Given the description of an element on the screen output the (x, y) to click on. 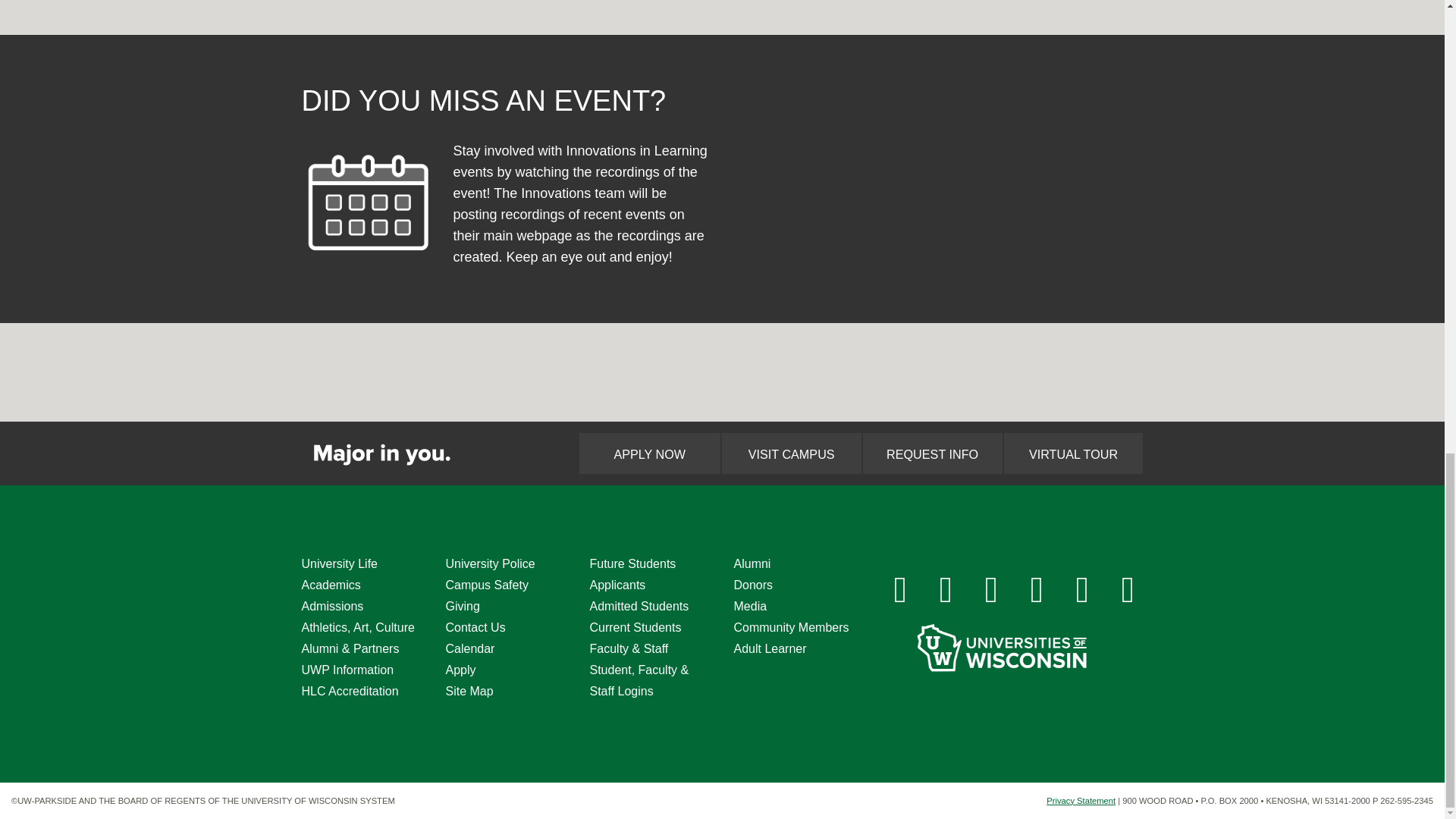
Email Admissions (1128, 588)
Facebook (900, 588)
X (991, 588)
Instagram (946, 588)
TikTok (1082, 588)
LinkedIn (1036, 588)
